Given the description of an element on the screen output the (x, y) to click on. 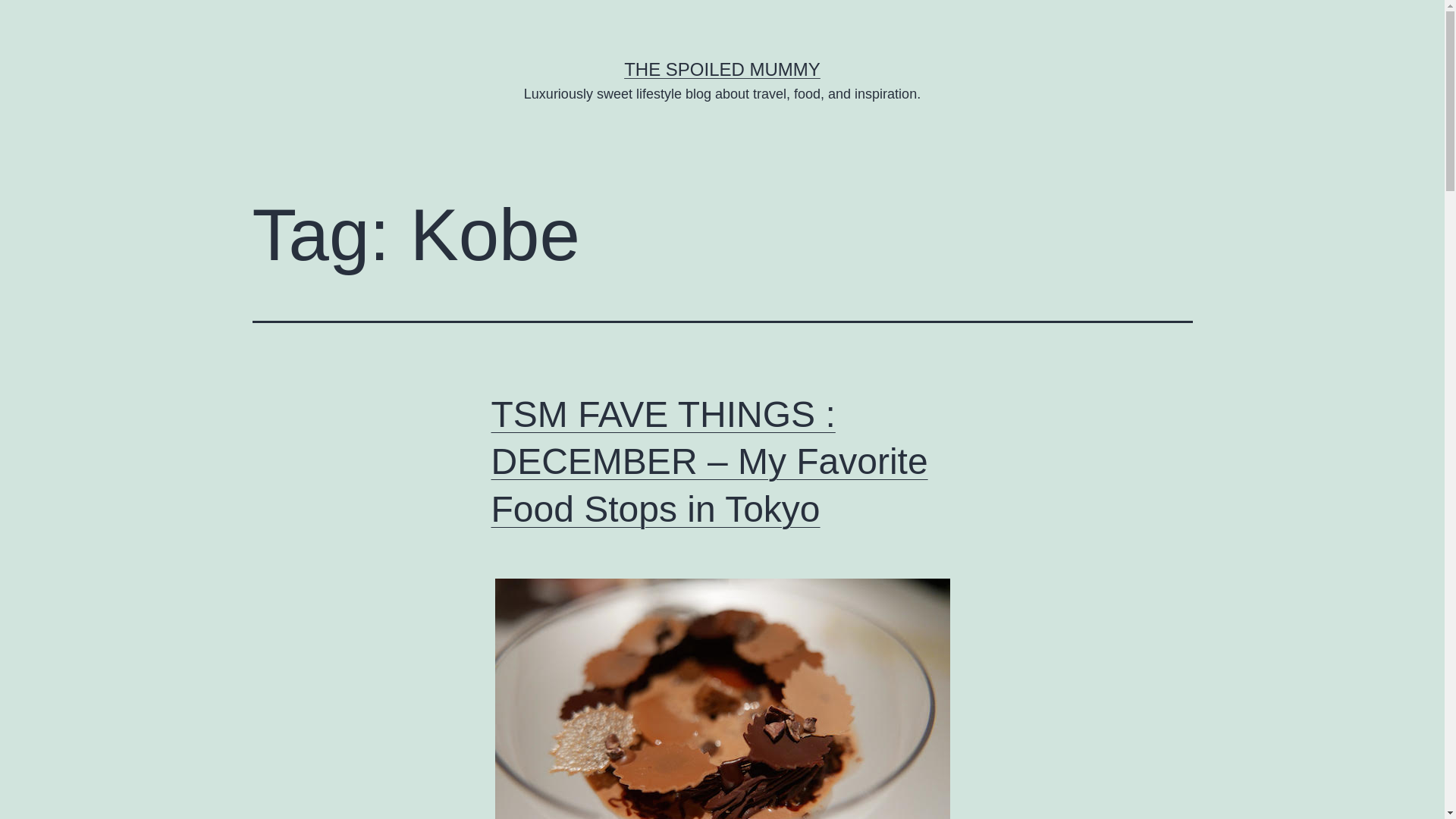
THE SPOILED MUMMY (722, 68)
